Given the description of an element on the screen output the (x, y) to click on. 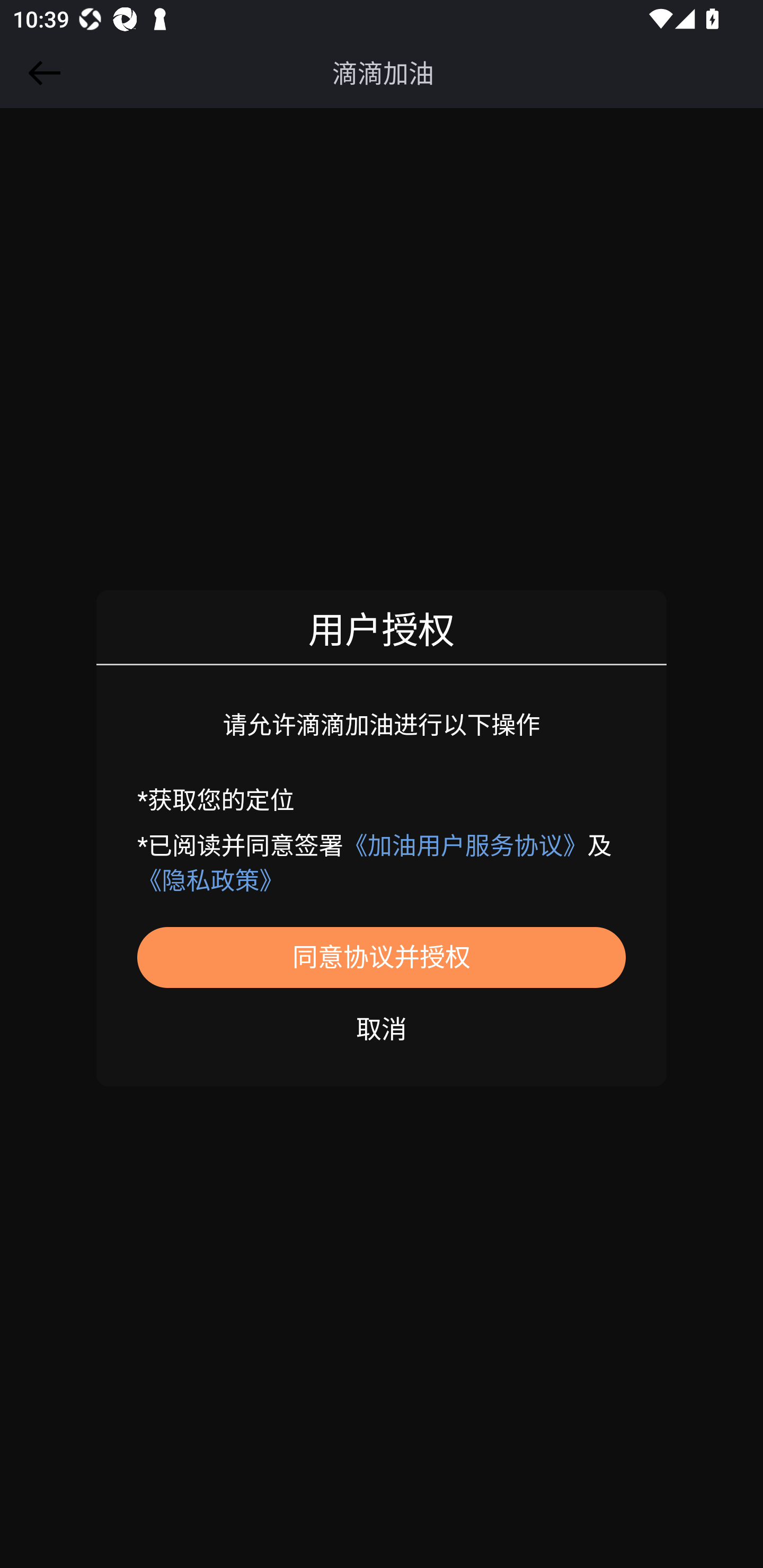
 (41, 72)
《加油用户服务协议》 (464, 845)
《隐私政策》 (210, 880)
同意协议并授权 (381, 956)
取消 (381, 1026)
